Given the description of an element on the screen output the (x, y) to click on. 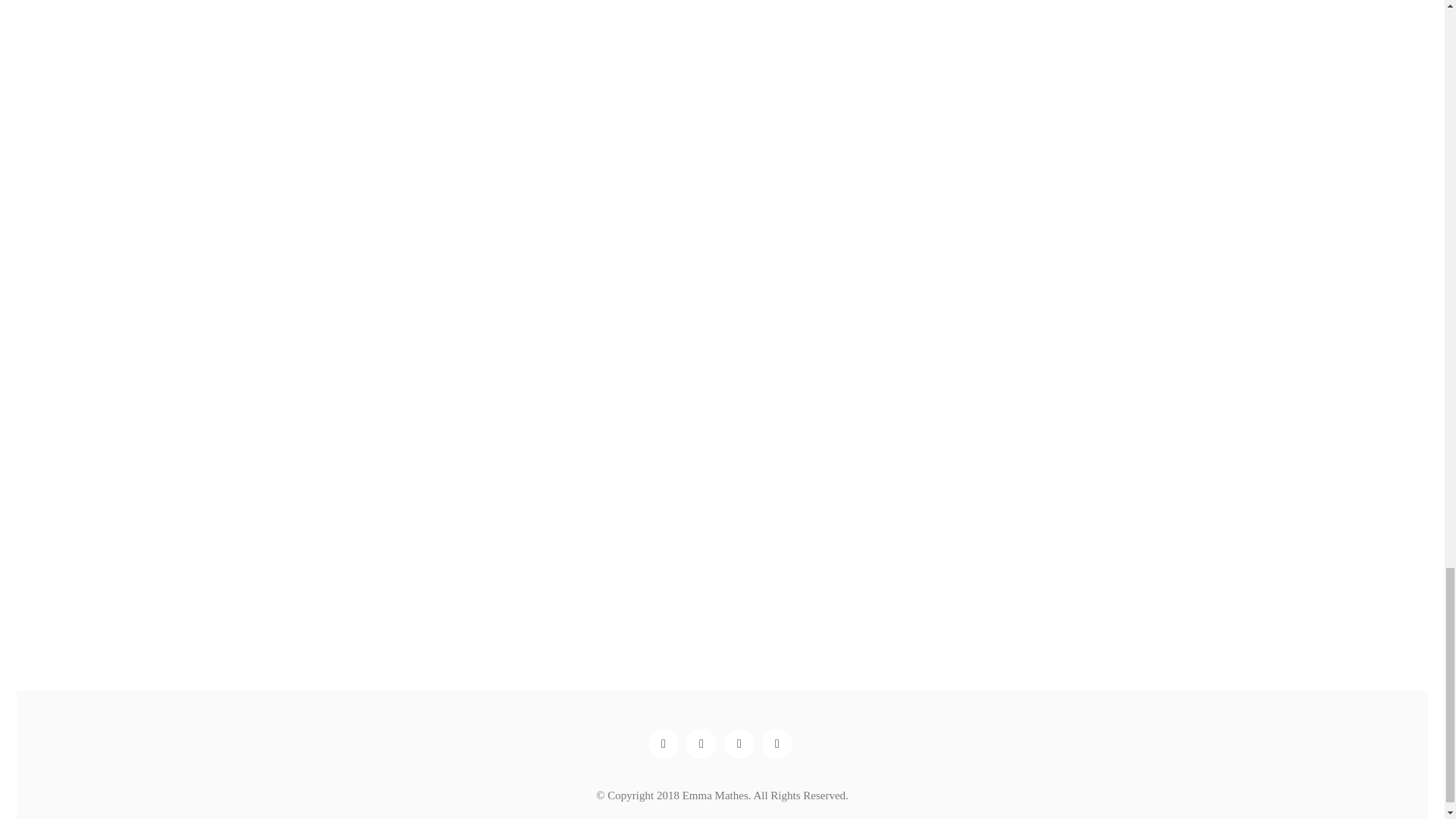
LinkedIn (700, 743)
Instagram (738, 743)
Facebook (662, 743)
Email (776, 743)
